Given the description of an element on the screen output the (x, y) to click on. 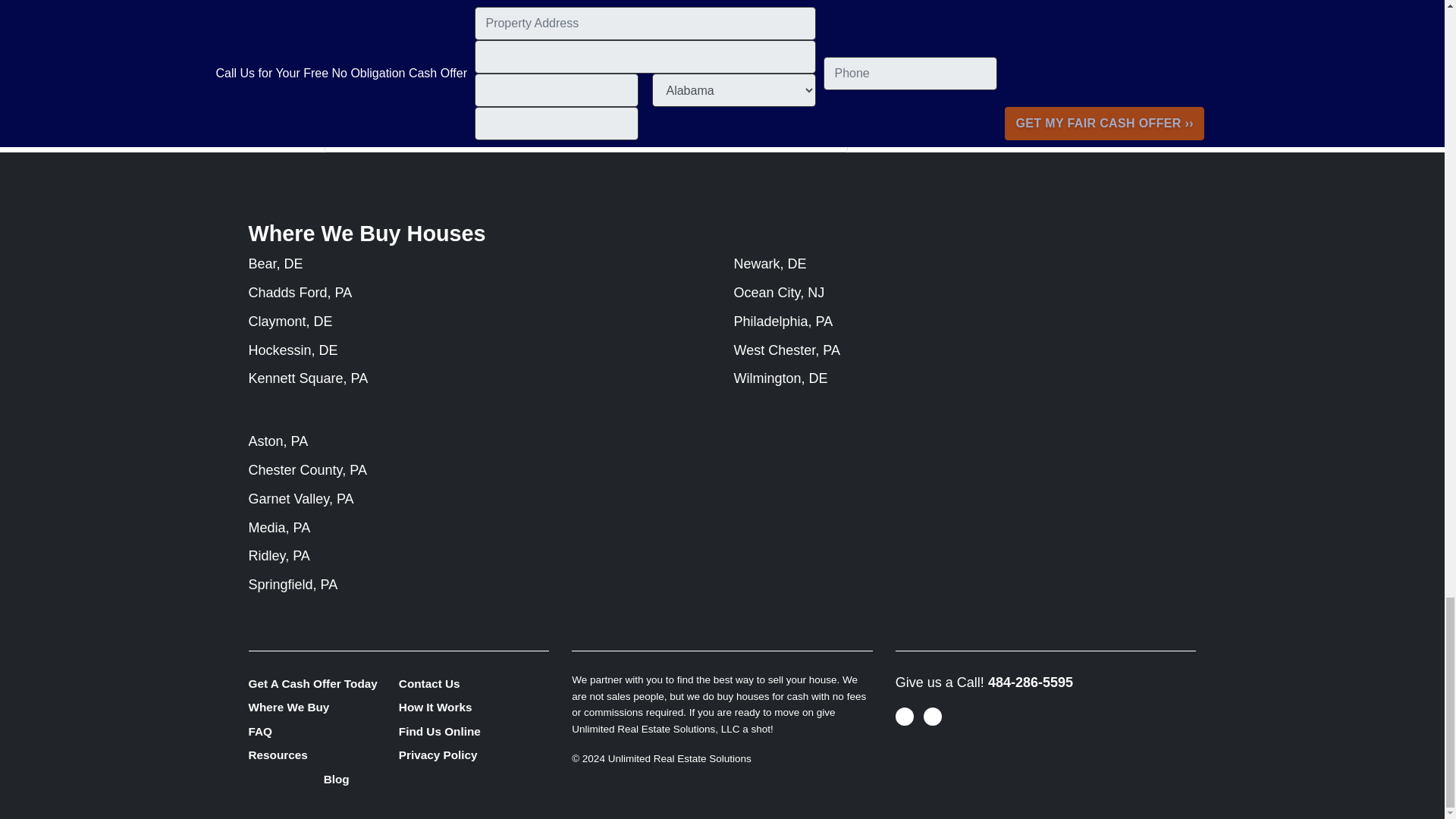
Facebook (350, 125)
Bear, DE (275, 263)
YouTube (371, 125)
Chadds Ford, PA (300, 292)
Claymont, DE (290, 321)
